Given the description of an element on the screen output the (x, y) to click on. 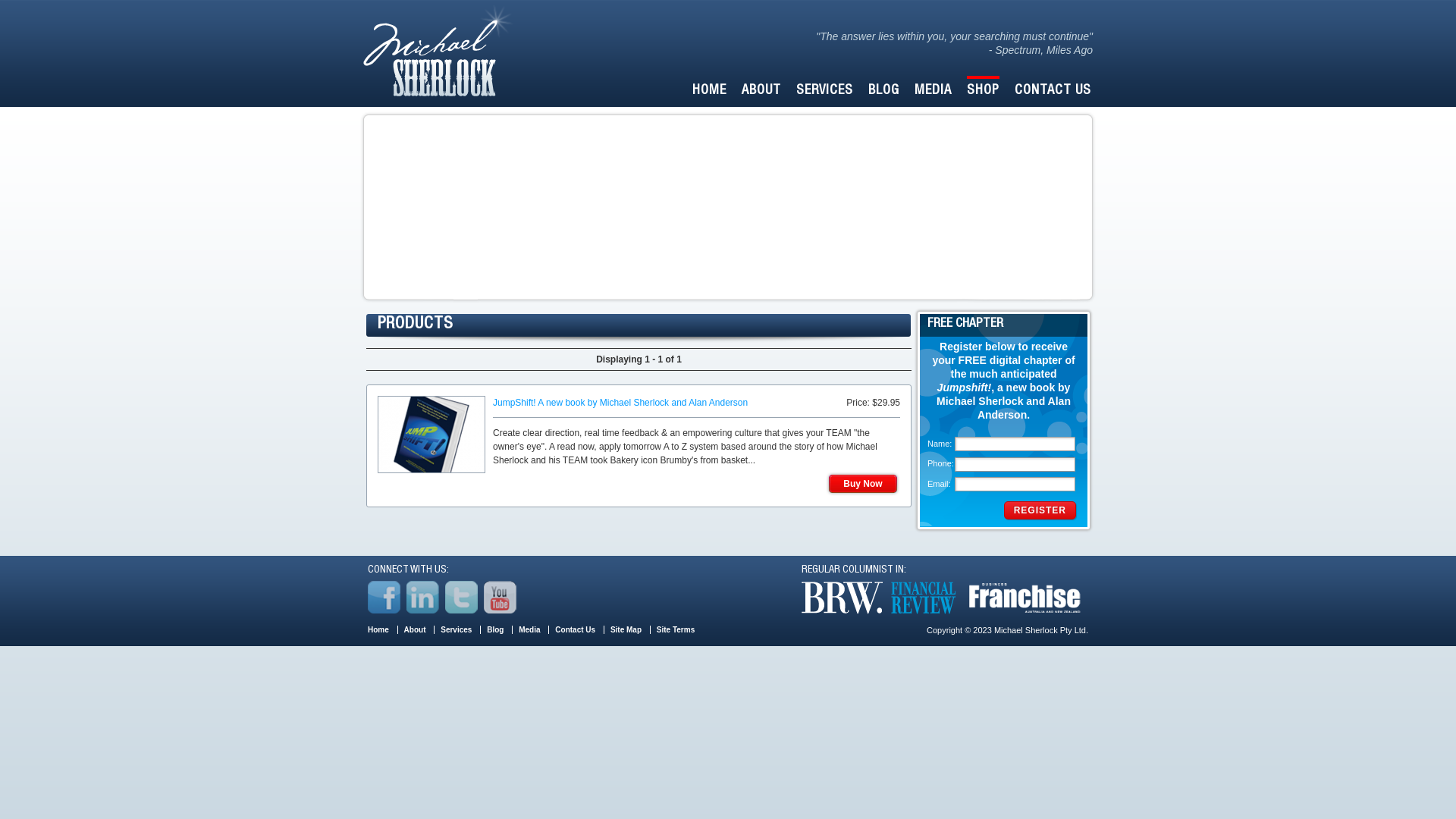
JumpShift! A new book by Michael Sherlock and Alan Anderson Element type: text (619, 402)
Site Terms Element type: text (675, 629)
Media Element type: text (528, 629)
ABOUT Element type: text (761, 89)
CONTACT US Element type: text (1052, 89)
Services Element type: text (455, 629)
SERVICES Element type: text (824, 89)
Register Element type: text (1040, 510)
HOME Element type: text (709, 89)
BLOG Element type: text (883, 89)
Home Element type: text (378, 629)
Contact Us Element type: text (575, 629)
SHOP Element type: text (982, 89)
Michael Sherlock Pty Ltd Element type: hover (438, 50)
MEDIA Element type: text (932, 89)
Buy Now Element type: text (862, 483)
Site Map Element type: text (625, 629)
Blog Element type: text (494, 629)
About Element type: text (415, 629)
